Given the description of an element on the screen output the (x, y) to click on. 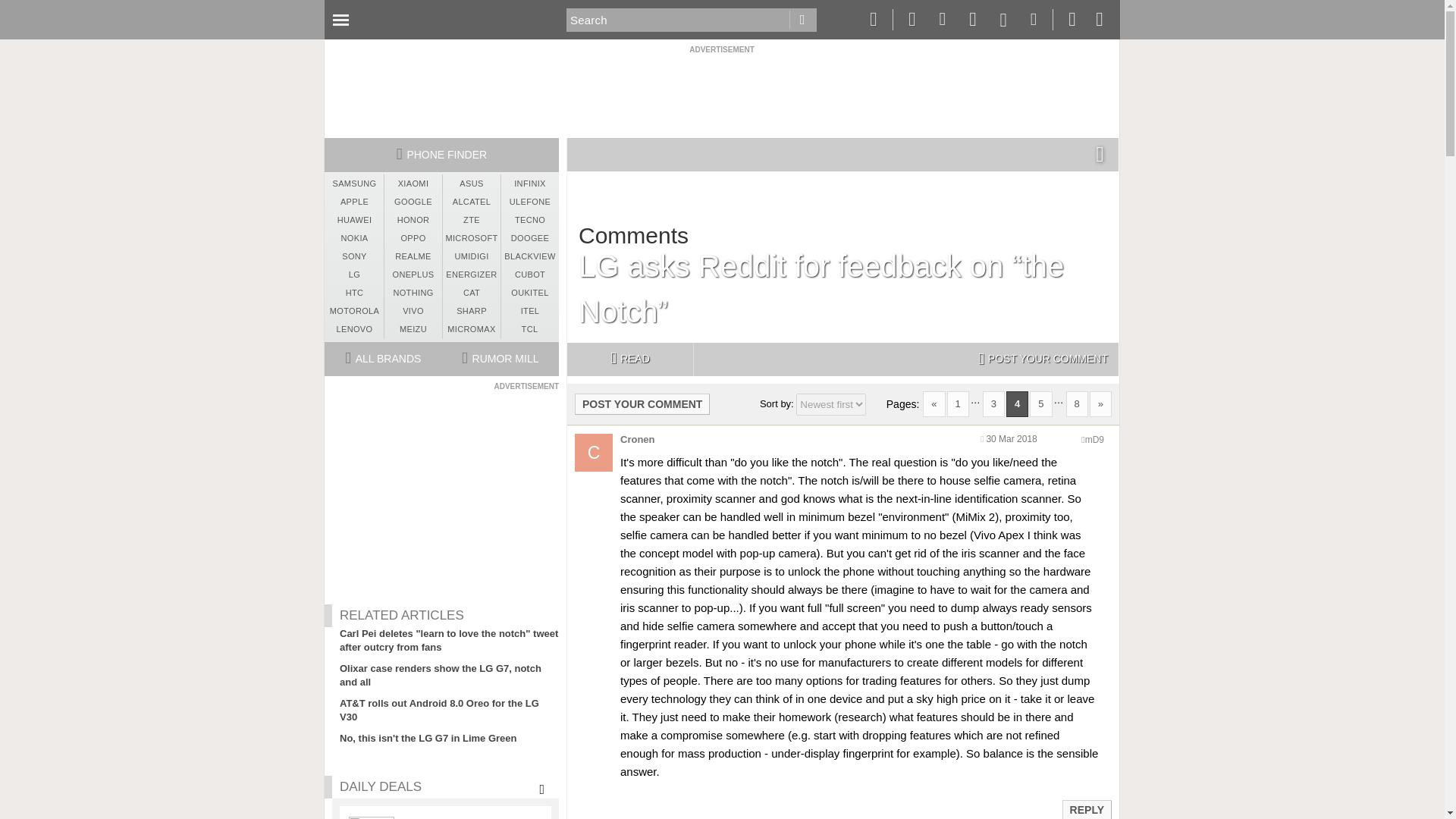
POST YOUR COMMENT (642, 403)
Encoded anonymized location (1093, 439)
Sort comments by (831, 404)
Go (802, 19)
Go (802, 19)
POST YOUR COMMENT (1042, 359)
REPLY (1086, 809)
READ (630, 359)
Reply to this post (1086, 809)
